Given the description of an element on the screen output the (x, y) to click on. 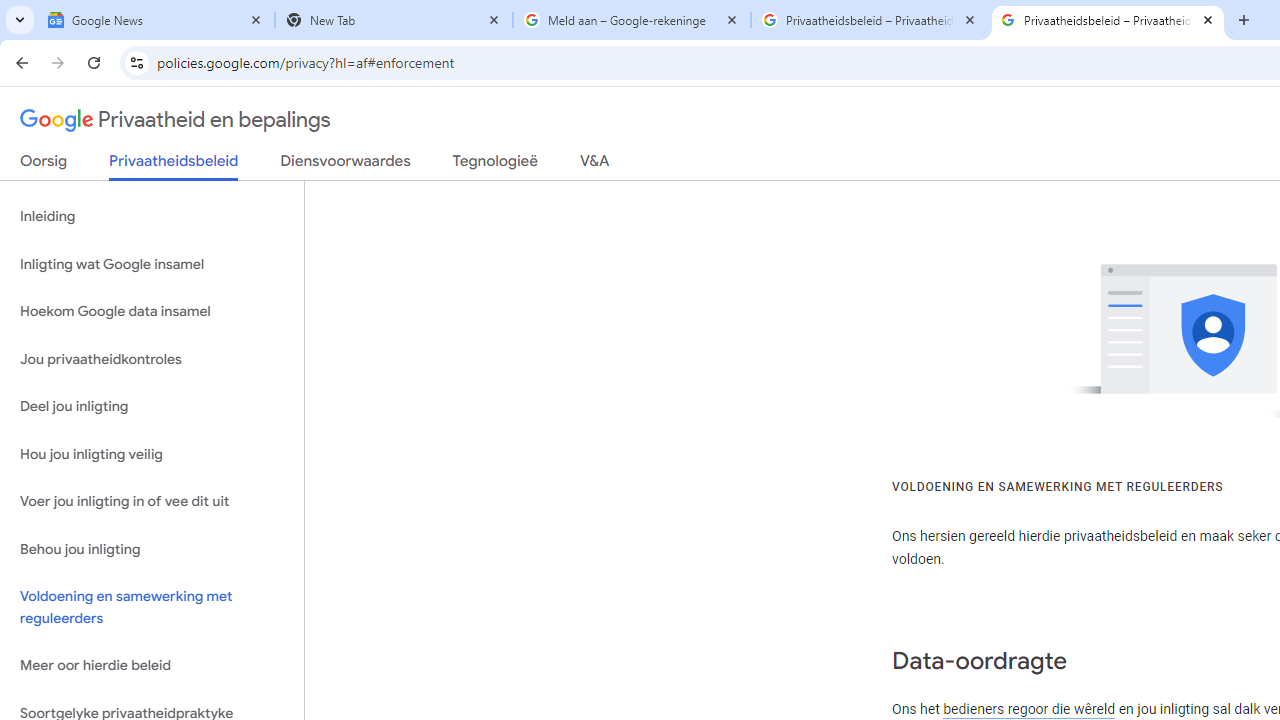
Google News (156, 20)
Jou privaatheidkontroles (152, 358)
Inleiding (152, 216)
Privaatheid en bepalings (175, 120)
V&A (594, 165)
Privaatheidsbeleid (173, 166)
Voer jou inligting in of vee dit uit (152, 502)
Behou jou inligting (152, 548)
Meer oor hierdie beleid (152, 666)
